Given the description of an element on the screen output the (x, y) to click on. 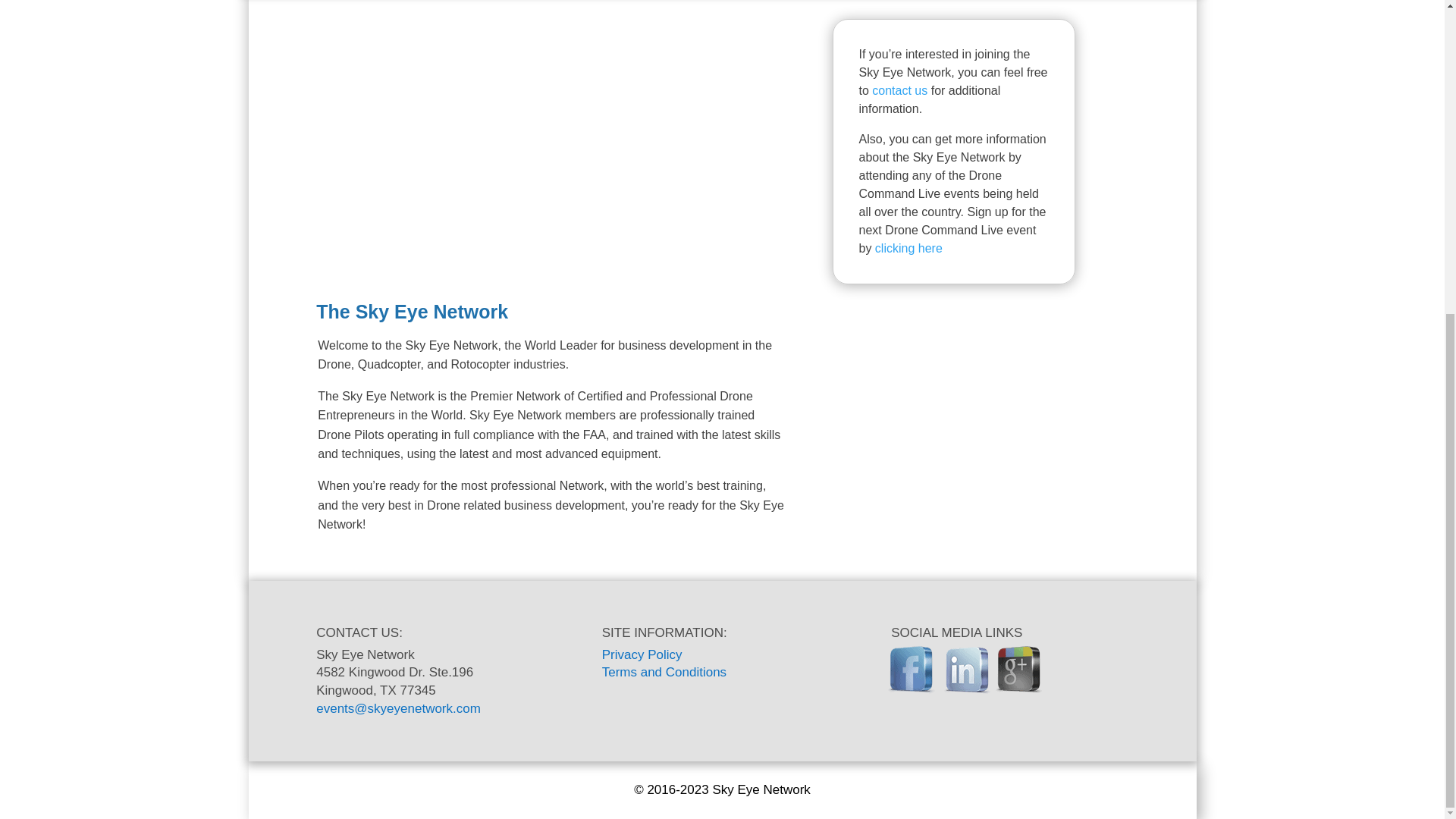
Sky Eye About Video (547, 153)
Contact (899, 90)
